Given the description of an element on the screen output the (x, y) to click on. 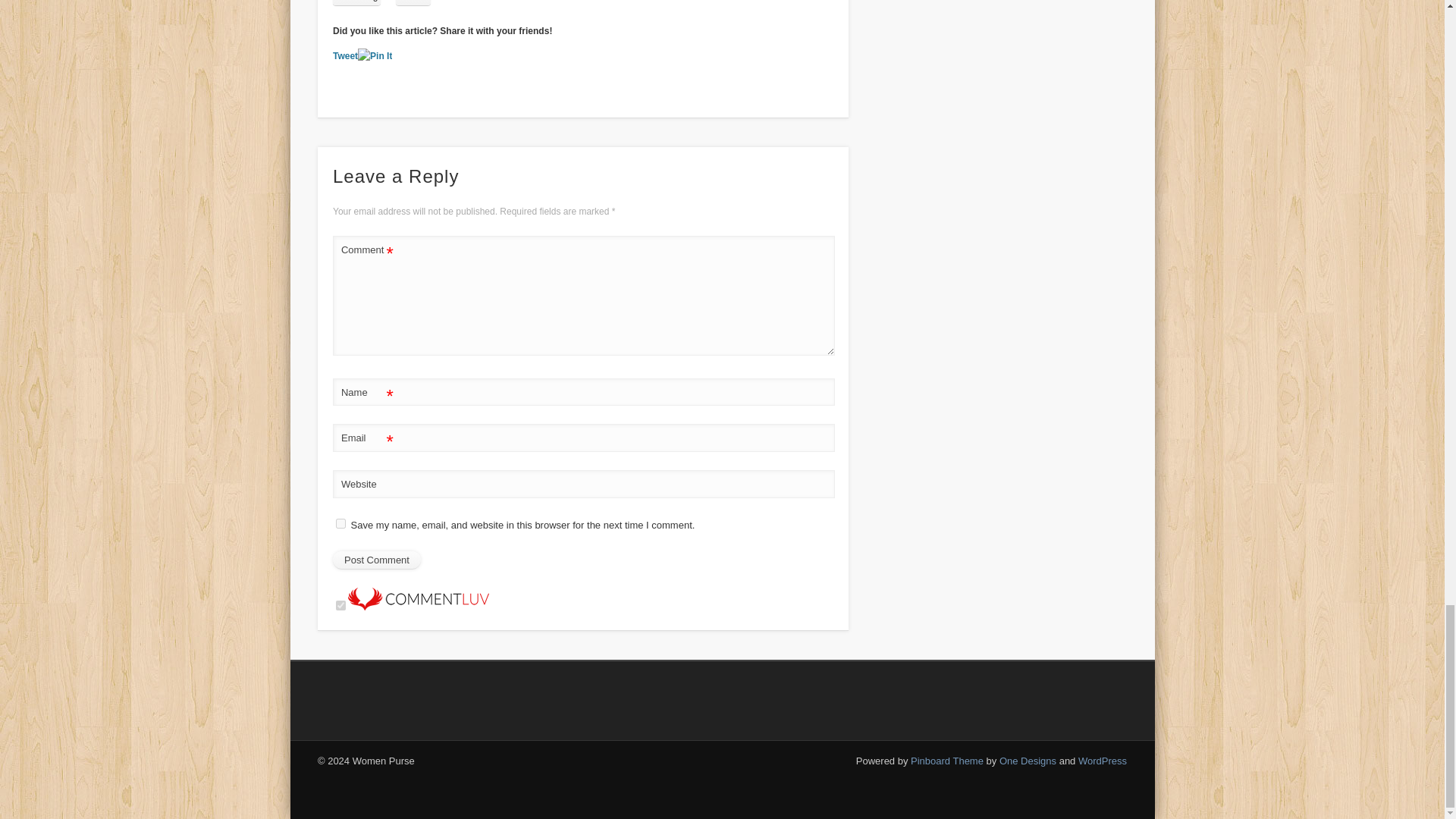
Post Comment (376, 560)
yes (341, 523)
Pin It (374, 56)
on (341, 605)
